Given the description of an element on the screen output the (x, y) to click on. 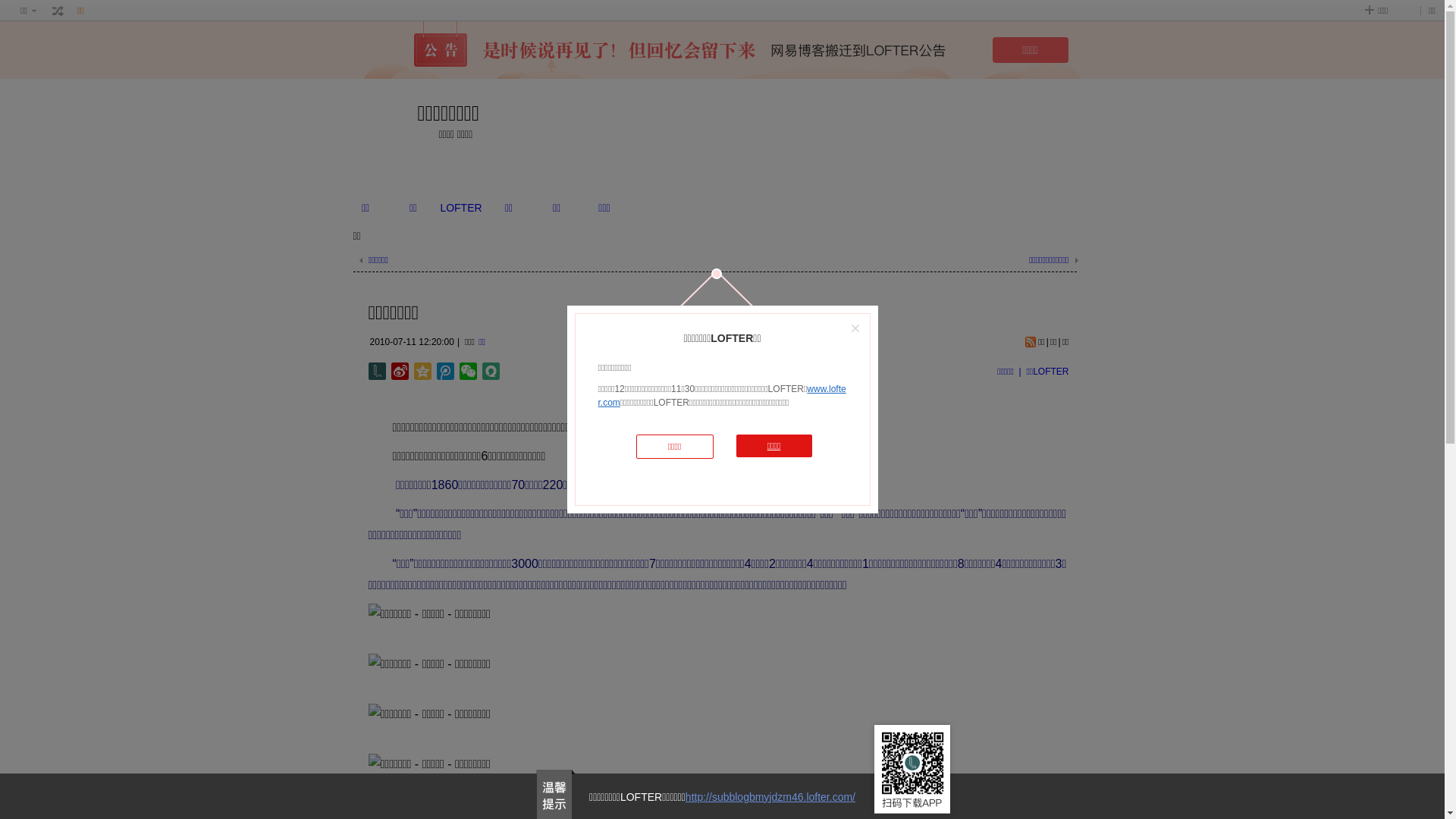
http://subblogbmyjdzm46.lofter.com/ Element type: text (770, 796)
www.lofter.com Element type: text (721, 395)
  Element type: text (58, 10)
LOFTER Element type: text (460, 207)
